Given the description of an element on the screen output the (x, y) to click on. 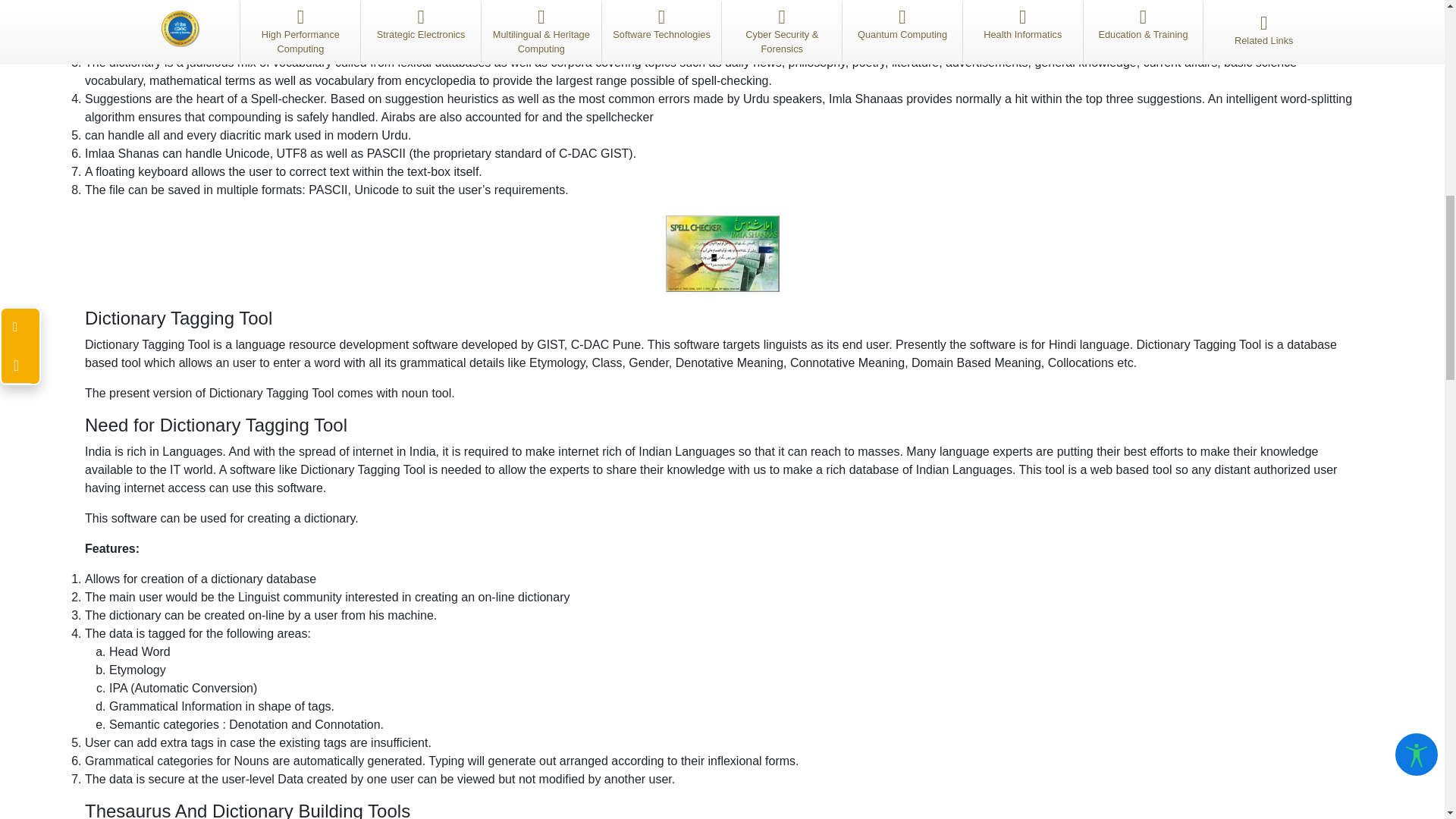
Imla Shanaas (721, 252)
